Given the description of an element on the screen output the (x, y) to click on. 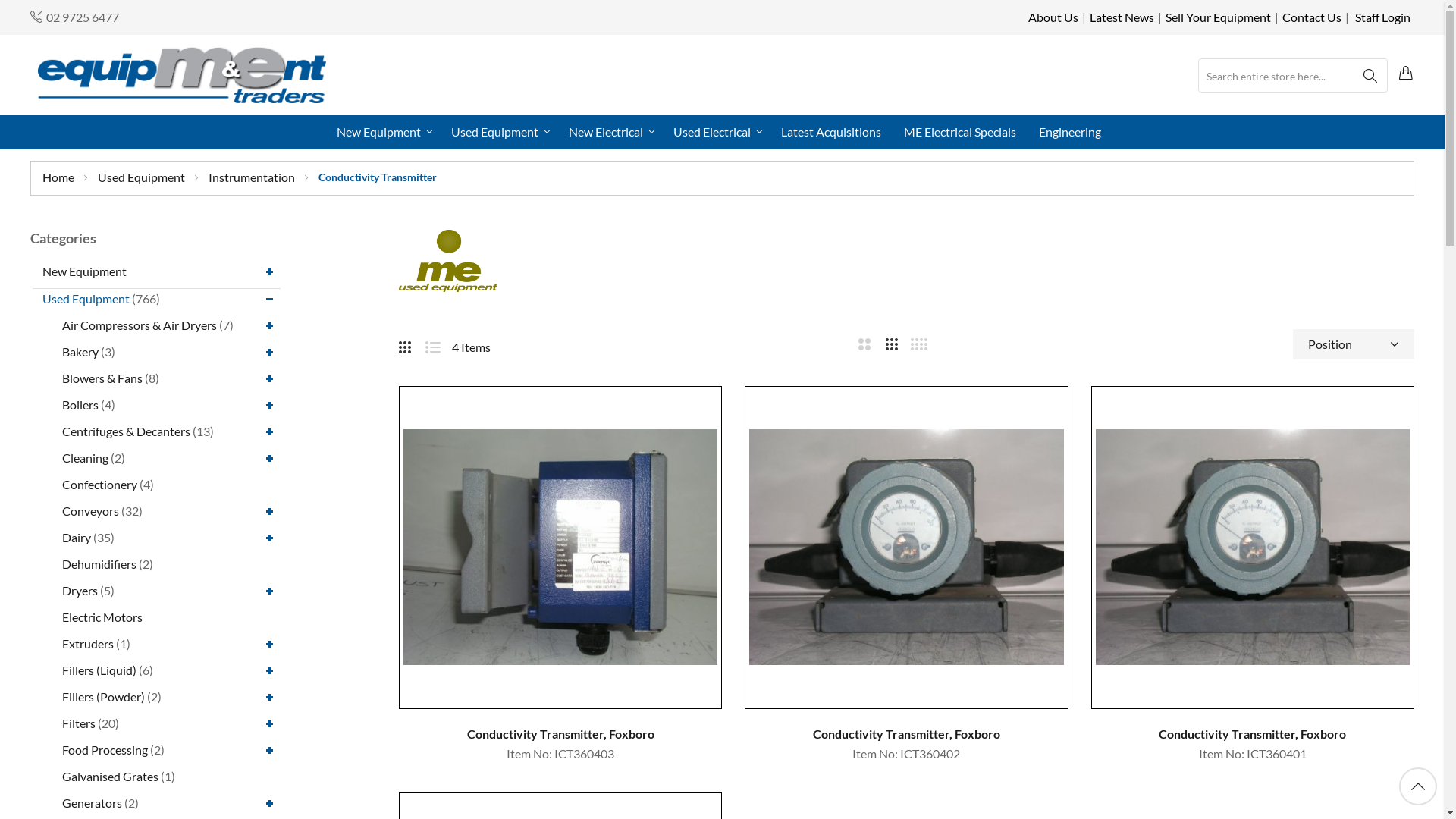
4 Element type: text (918, 347)
About Us Element type: text (1053, 17)
Conveyors Element type: text (90, 510)
Used Equipment Element type: text (497, 131)
Boilers Element type: text (80, 404)
Dryers Element type: text (79, 589)
3 Element type: text (890, 347)
ME Electrical Specials Element type: text (959, 131)
02 9725 6477 Element type: text (82, 16)
Sell Your Equipment Element type: text (1217, 17)
Fillers (Liquid) Element type: text (99, 669)
New Electrical Element type: text (609, 131)
Home Element type: text (59, 176)
2 Element type: text (863, 347)
M&E Equipment Traders Element type: hover (181, 74)
Blowers & Fans Element type: text (102, 377)
Food Processing Element type: text (104, 748)
Instrumentation Element type: text (252, 176)
New Equipment Element type: text (386, 131)
Extruders Element type: text (87, 642)
Search Element type: text (1369, 76)
Conductivity Transmitter, Foxboro Element type: text (905, 733)
List Element type: text (438, 344)
Galvanised Grates Element type: text (110, 775)
Electric Motors Element type: text (102, 616)
Fillers (Powder) Element type: text (103, 695)
Air Compressors & Air Dryers Element type: text (139, 323)
Confectionery Element type: text (99, 483)
Cleaning Element type: text (85, 457)
Engineering Element type: text (1069, 131)
Used Equipment Element type: text (85, 298)
Latest Acquisitions Element type: text (830, 131)
Conductivity Transmitter, Foxboro Element type: text (1251, 733)
Generators Element type: text (92, 801)
Filters Element type: text (78, 722)
Dairy Element type: text (76, 536)
Used Equipment Element type: text (142, 176)
Latest News Element type: text (1121, 17)
New Equipment Element type: text (84, 270)
Centrifuges & Decanters Element type: text (126, 430)
Contact Us Element type: text (1311, 17)
Dehumidifiers Element type: text (99, 563)
Staff Login Element type: text (1382, 17)
Used Electrical Element type: text (715, 131)
Cart Element type: text (1406, 73)
Bakery Element type: text (80, 351)
Conductivity Transmitter, Foxboro Element type: text (559, 733)
